Given the description of an element on the screen output the (x, y) to click on. 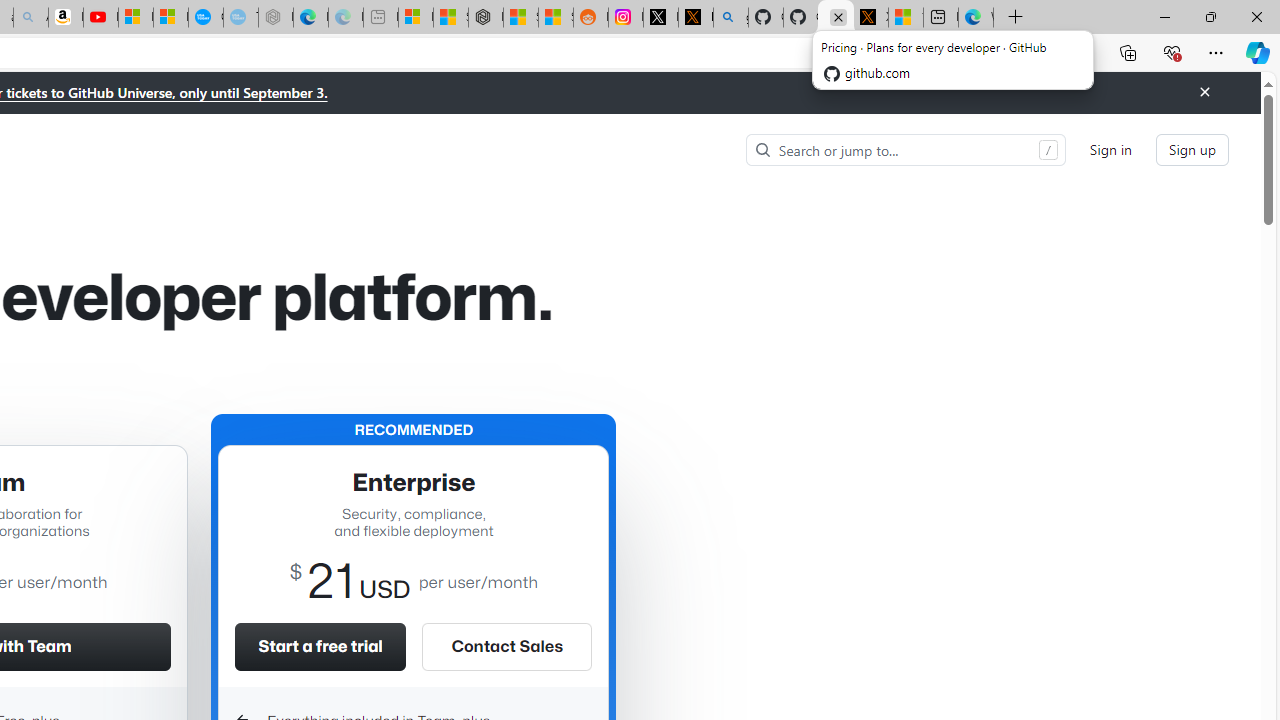
Microsoft account | Microsoft Account Privacy Settings (415, 17)
Sign up (1191, 149)
github - Search (730, 17)
Amazon Echo Dot PNG - Search Images - Sleeping (31, 17)
Shanghai, China Weather trends | Microsoft Weather (555, 17)
Log in to X / X (660, 17)
